Given the description of an element on the screen output the (x, y) to click on. 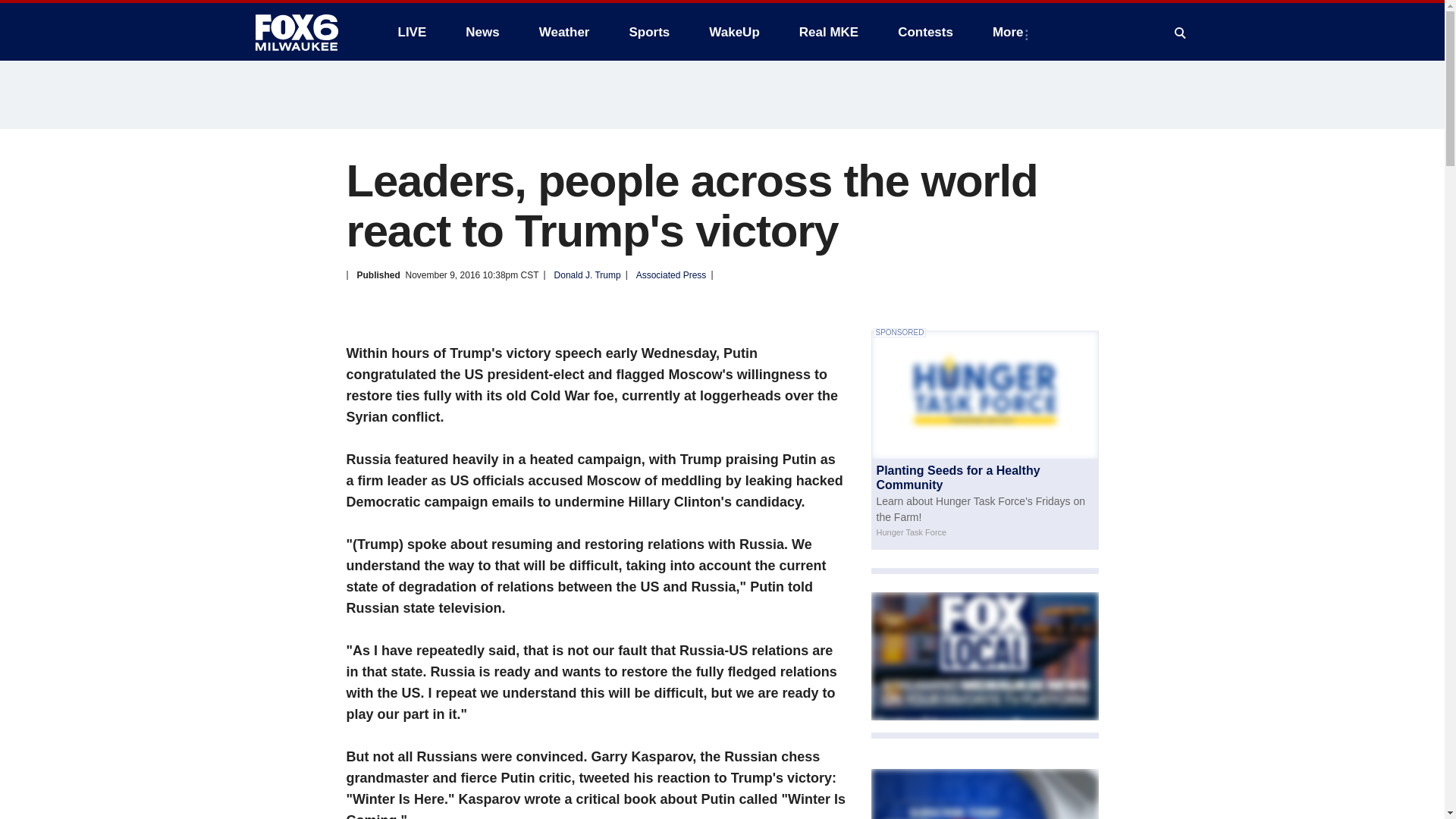
News (481, 32)
Real MKE (828, 32)
WakeUp (734, 32)
LIVE (411, 32)
More (1010, 32)
Sports (648, 32)
Contests (925, 32)
Weather (564, 32)
